Given the description of an element on the screen output the (x, y) to click on. 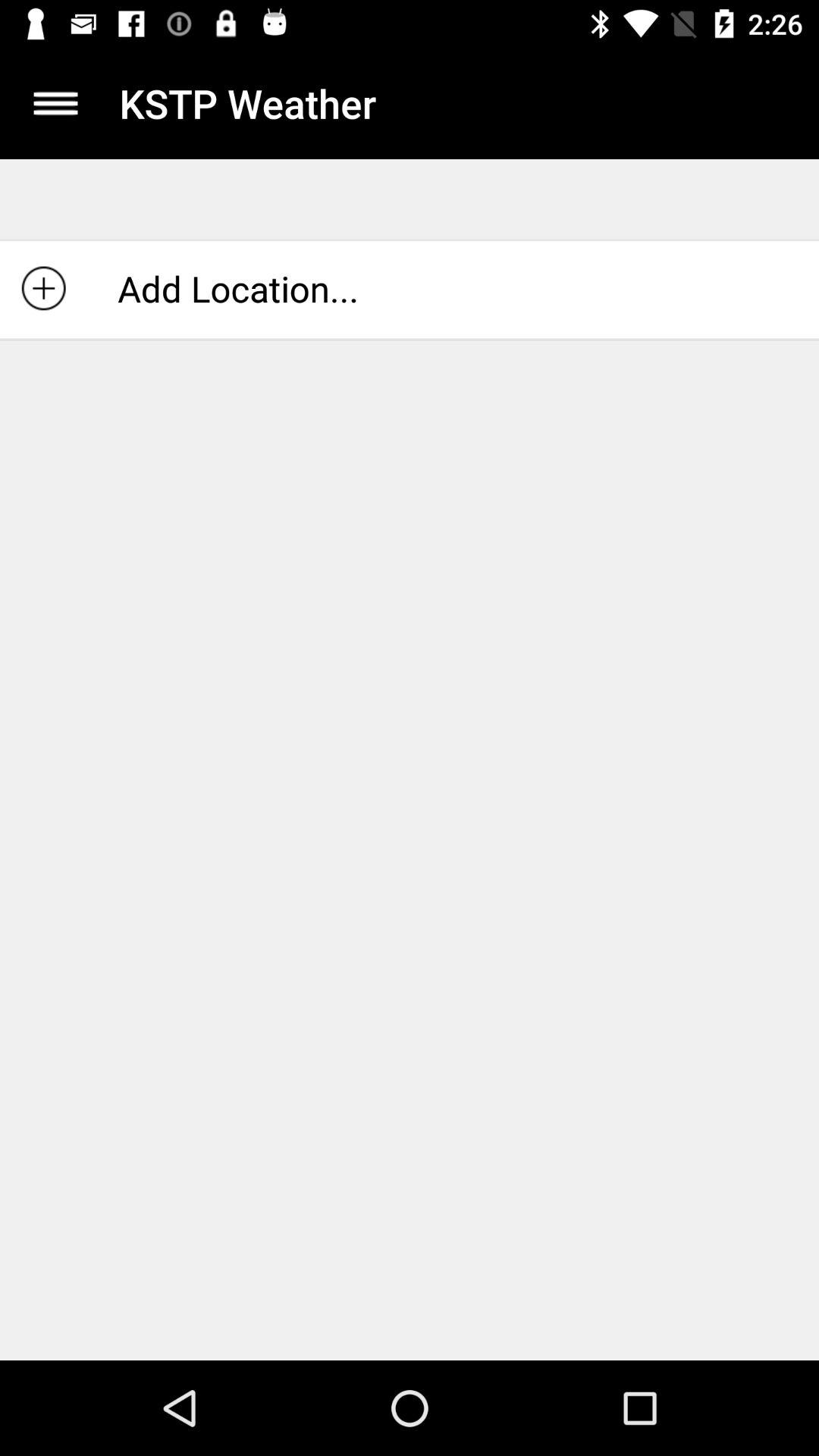
more options (55, 103)
